Given the description of an element on the screen output the (x, y) to click on. 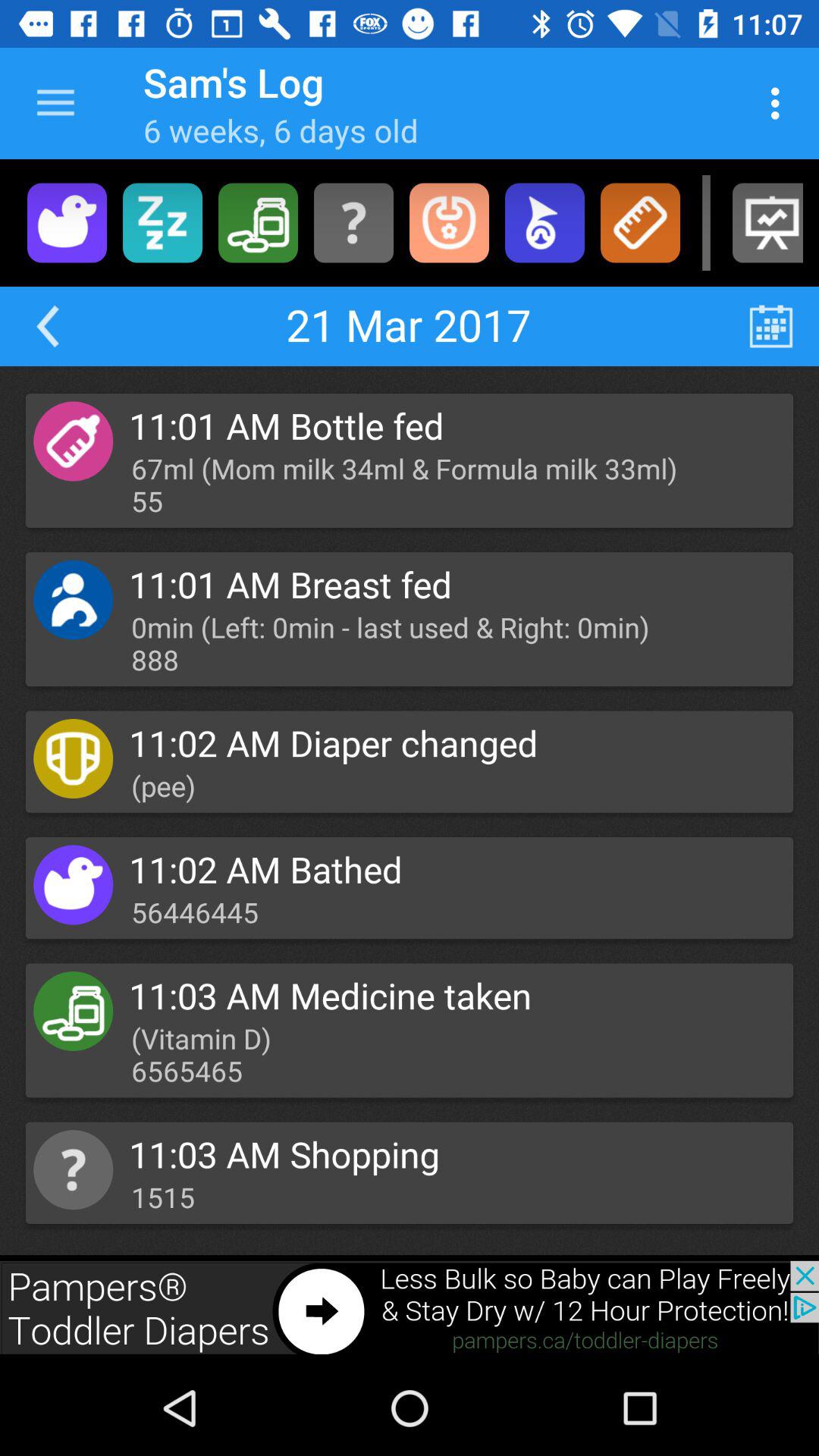
ask a question (353, 222)
